Given the description of an element on the screen output the (x, y) to click on. 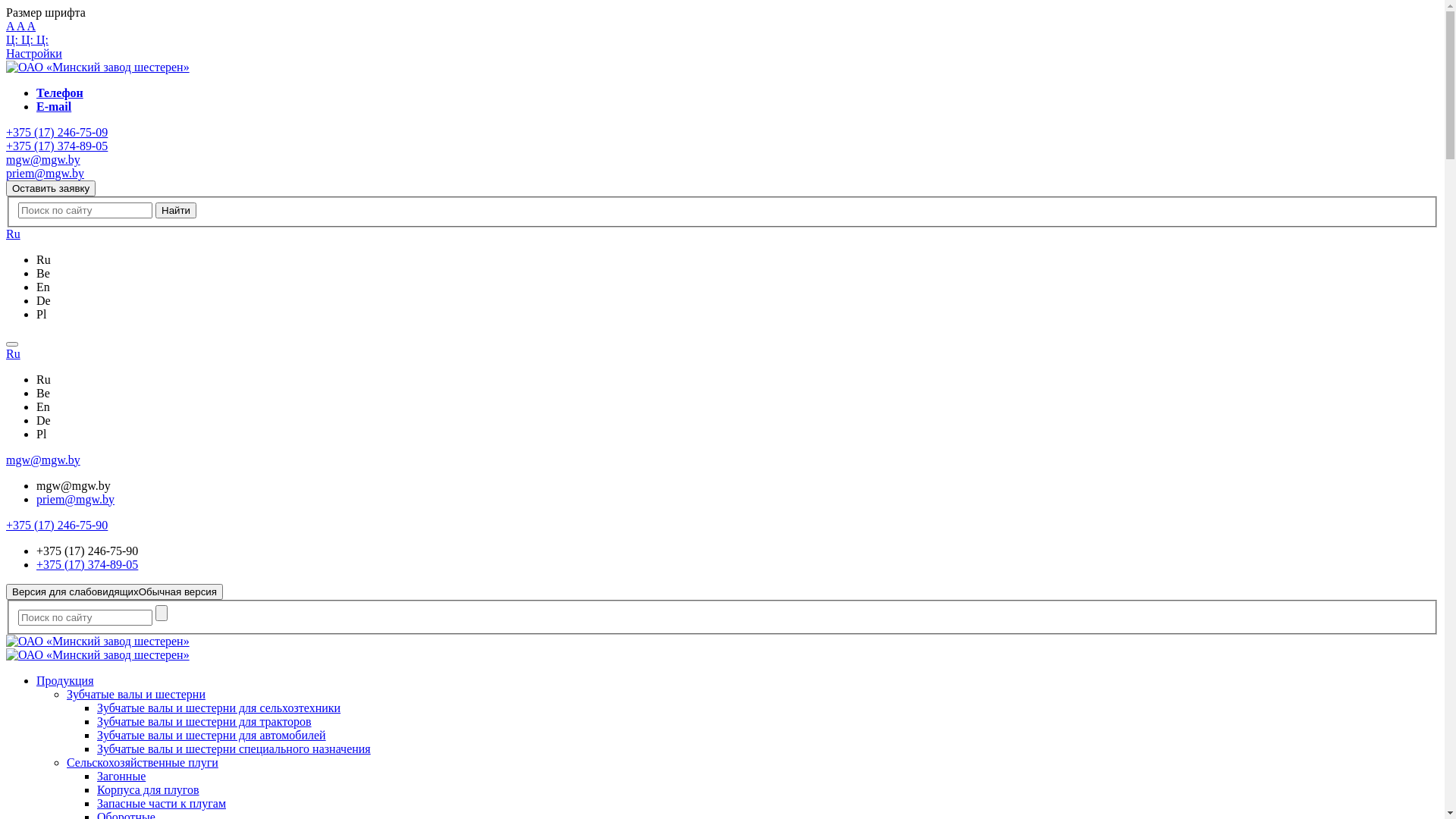
mgw@mgw.by Element type: text (43, 459)
+375 (17) 374-89-05 Element type: text (56, 145)
priem@mgw.by Element type: text (75, 498)
E-mail Element type: text (53, 106)
priem@mgw.by Element type: text (45, 172)
mgw@mgw.by Element type: text (43, 159)
Ru Element type: text (13, 233)
+375 (17) 374-89-05 Element type: text (87, 564)
A Element type: text (21, 25)
+375 (17) 246-75-09 Element type: text (56, 131)
+375 (17) 246-75-90 Element type: text (56, 524)
A Element type: text (11, 25)
A Element type: text (31, 25)
Ru Element type: text (13, 353)
